Given the description of an element on the screen output the (x, y) to click on. 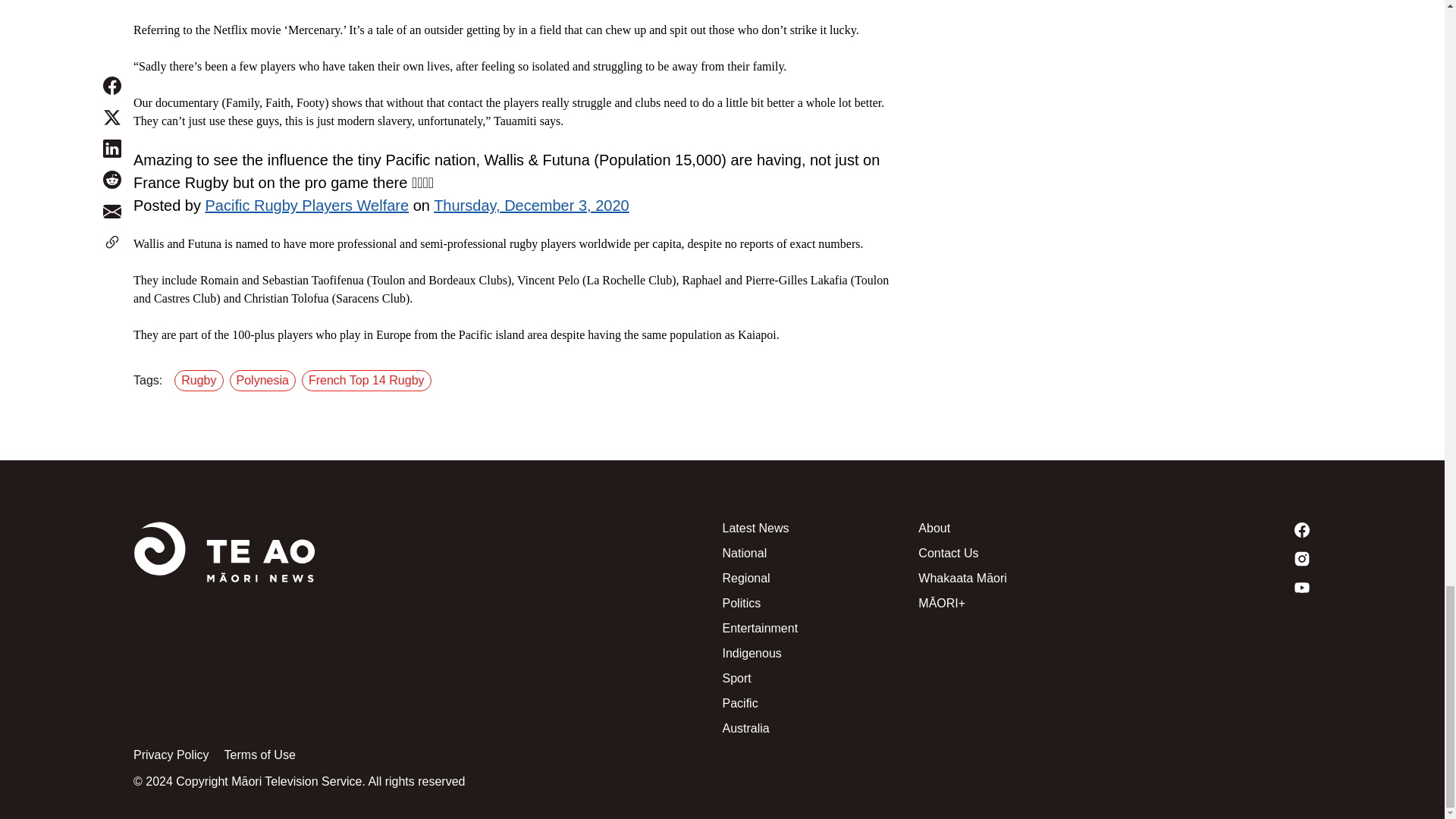
Pacific Rugby Players Welfare (307, 205)
Rugby (201, 380)
Polynesia (264, 380)
Instagram (1213, 558)
Youtube (1213, 587)
French Top 14 Rugby (369, 380)
Facebook (1213, 529)
Thursday, December 3, 2020 (530, 205)
